Given the description of an element on the screen output the (x, y) to click on. 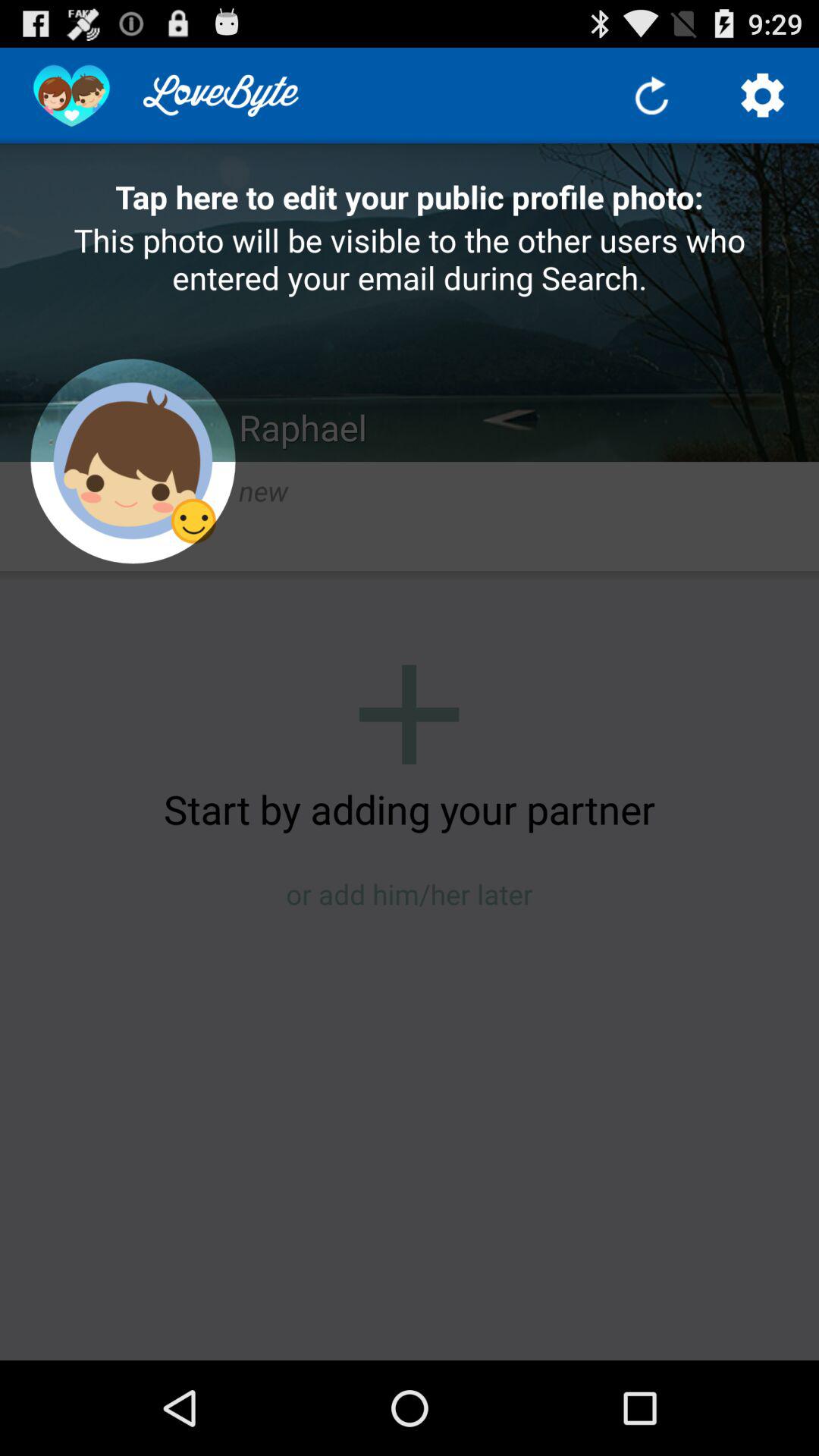
add partner (408, 714)
